Given the description of an element on the screen output the (x, y) to click on. 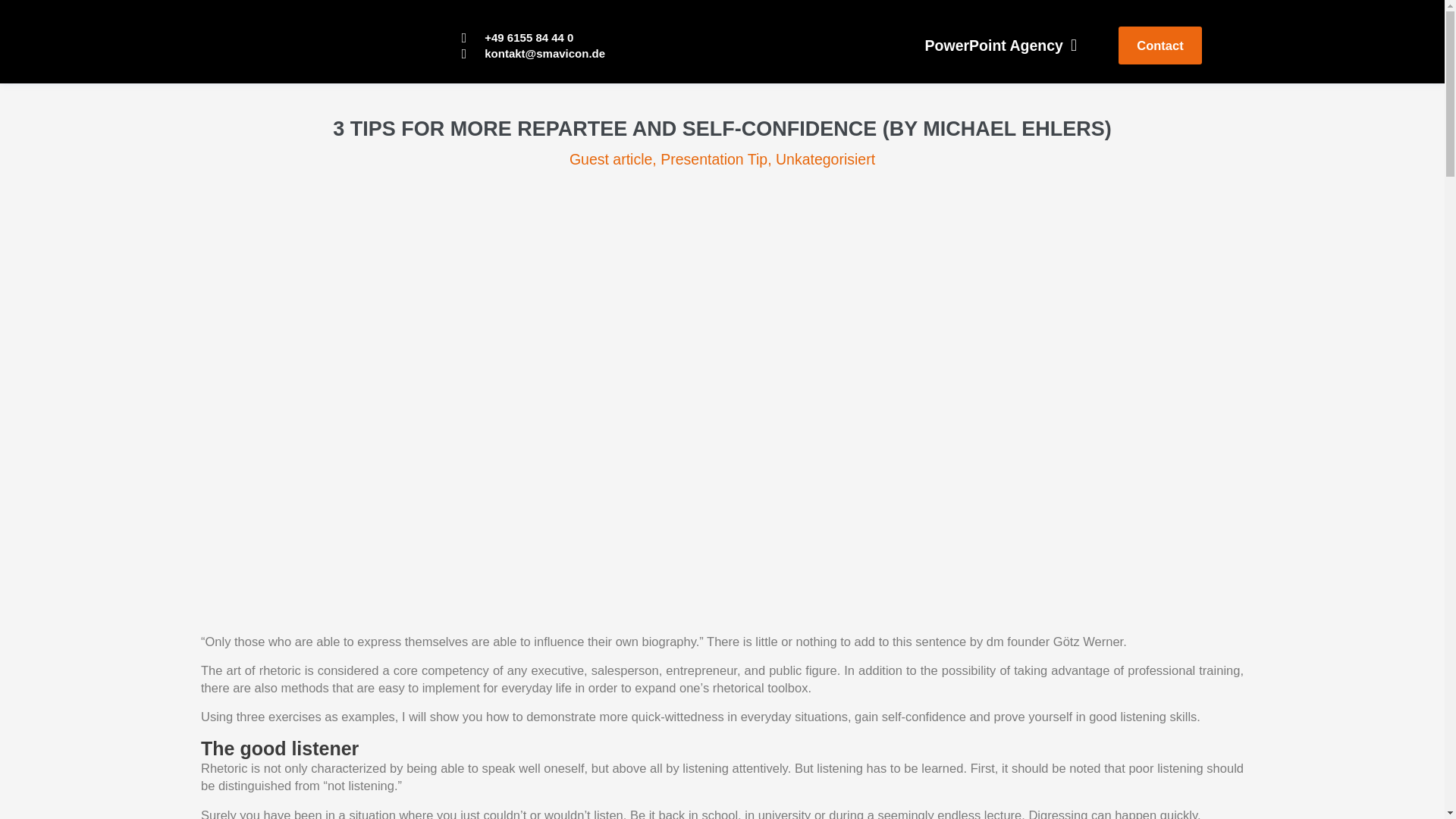
Presentation Tip (714, 158)
Unkategorisiert (825, 158)
PowerPoint Agency (1000, 45)
Contact (1159, 45)
Guest article (610, 158)
